Given the description of an element on the screen output the (x, y) to click on. 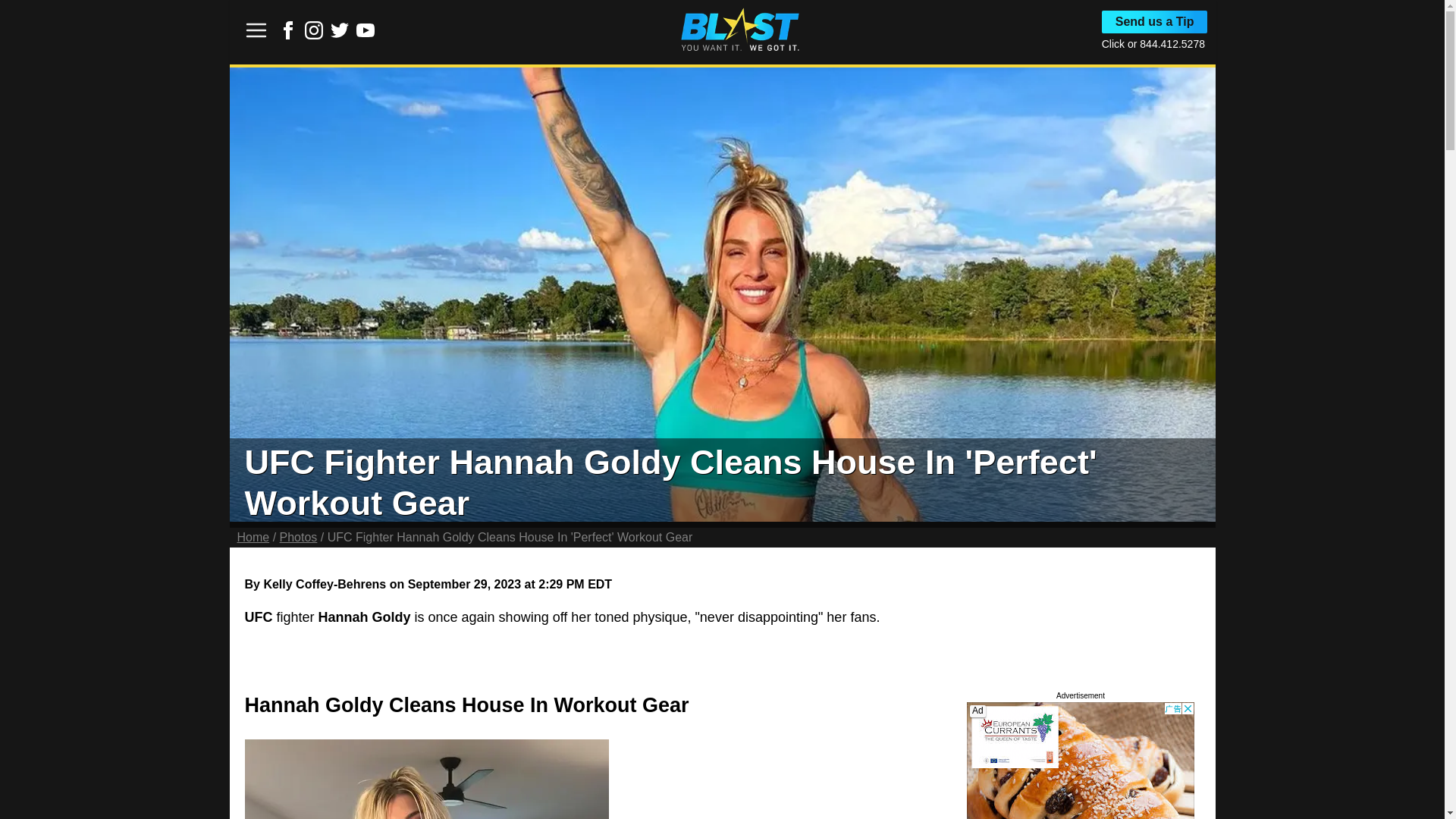
Click or 844.412.5278 (1153, 43)
Photos (298, 536)
Link to Twitter (339, 34)
3rd party ad content (504, 778)
Kelly Coffey-Behrens (324, 584)
Send us a Tip (1155, 21)
Link to Instagram (313, 30)
Link to Instagram (313, 34)
Link to Facebook (288, 34)
Link to Facebook (288, 30)
Link to Youtube (365, 34)
3rd party ad content (1079, 760)
Link to Twitter (339, 30)
Link to Youtube (365, 30)
Home (252, 536)
